Given the description of an element on the screen output the (x, y) to click on. 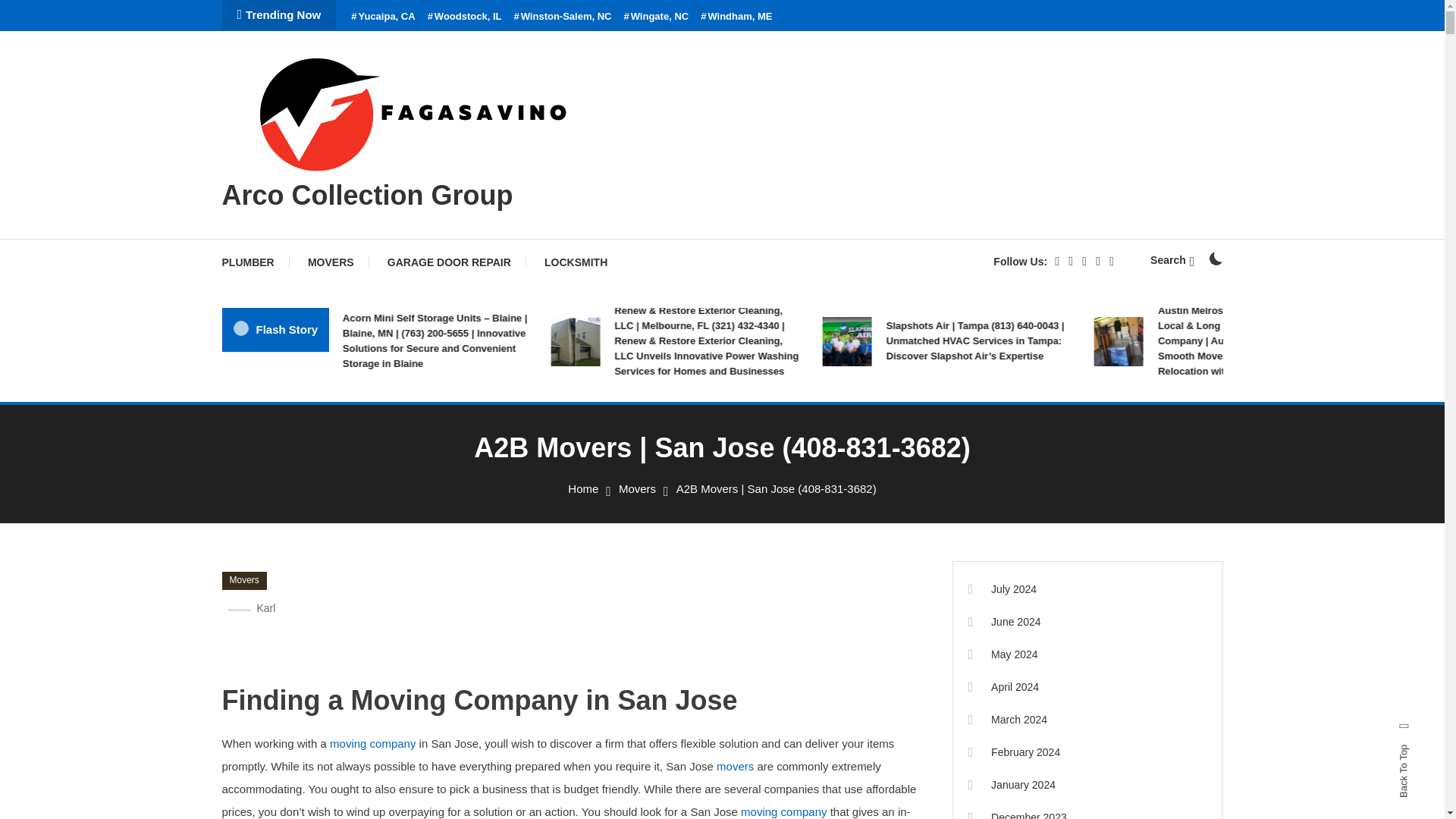
Home (582, 488)
Woodstock, IL (465, 16)
Search (1171, 259)
GARAGE DOOR REPAIR (448, 262)
Winston-Salem, NC (562, 16)
Arco Collection Group (366, 194)
PLUMBER (254, 262)
Search (768, 434)
Wingate, NC (655, 16)
MOVERS (330, 262)
Yucaipa, CA (382, 16)
on (1215, 258)
Windham, ME (735, 16)
LOCKSMITH (576, 262)
